Given the description of an element on the screen output the (x, y) to click on. 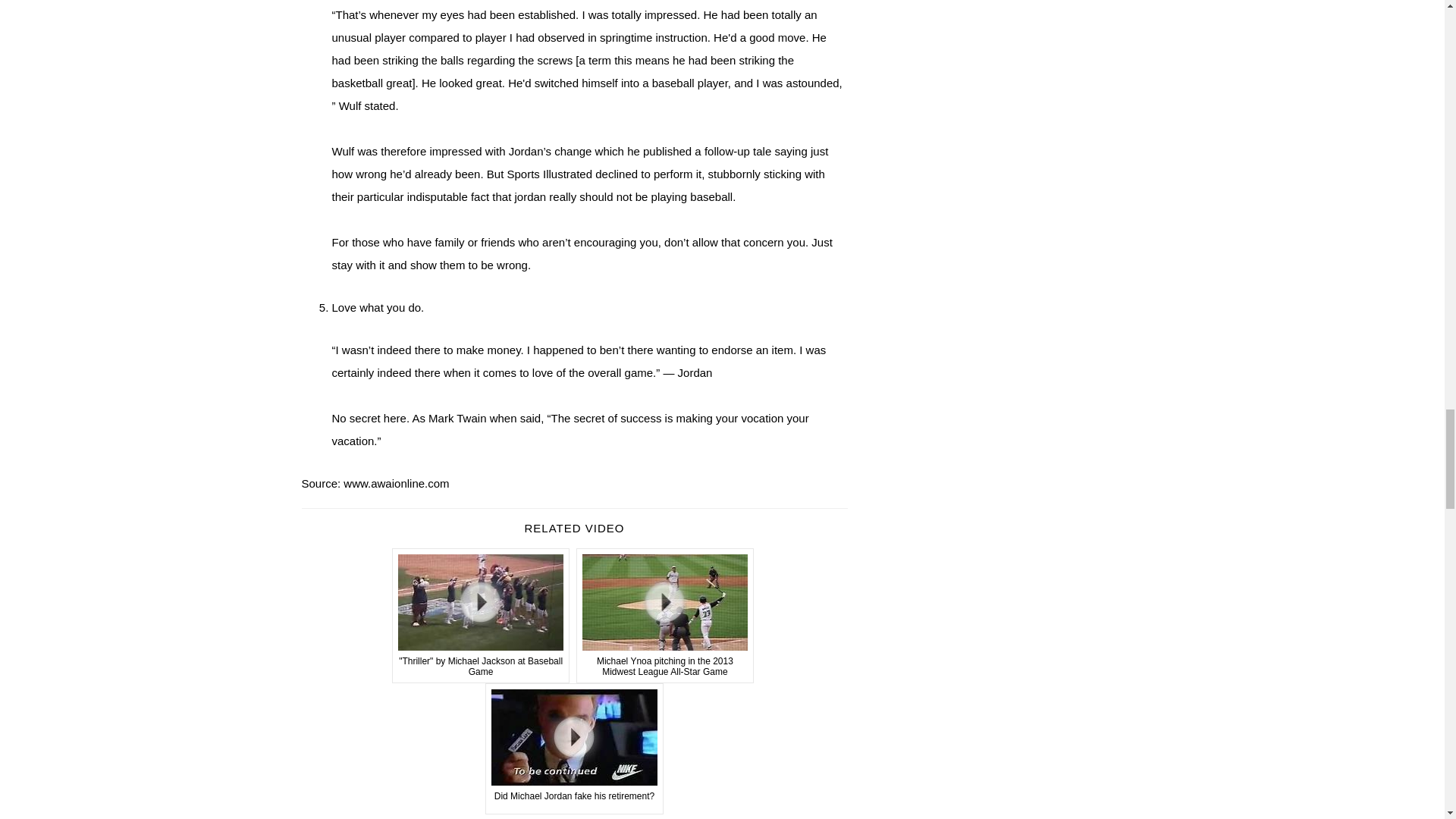
View this video from YouTube (480, 615)
View this video from YouTube (665, 615)
Video temporarily unavailable (573, 748)
